Given the description of an element on the screen output the (x, y) to click on. 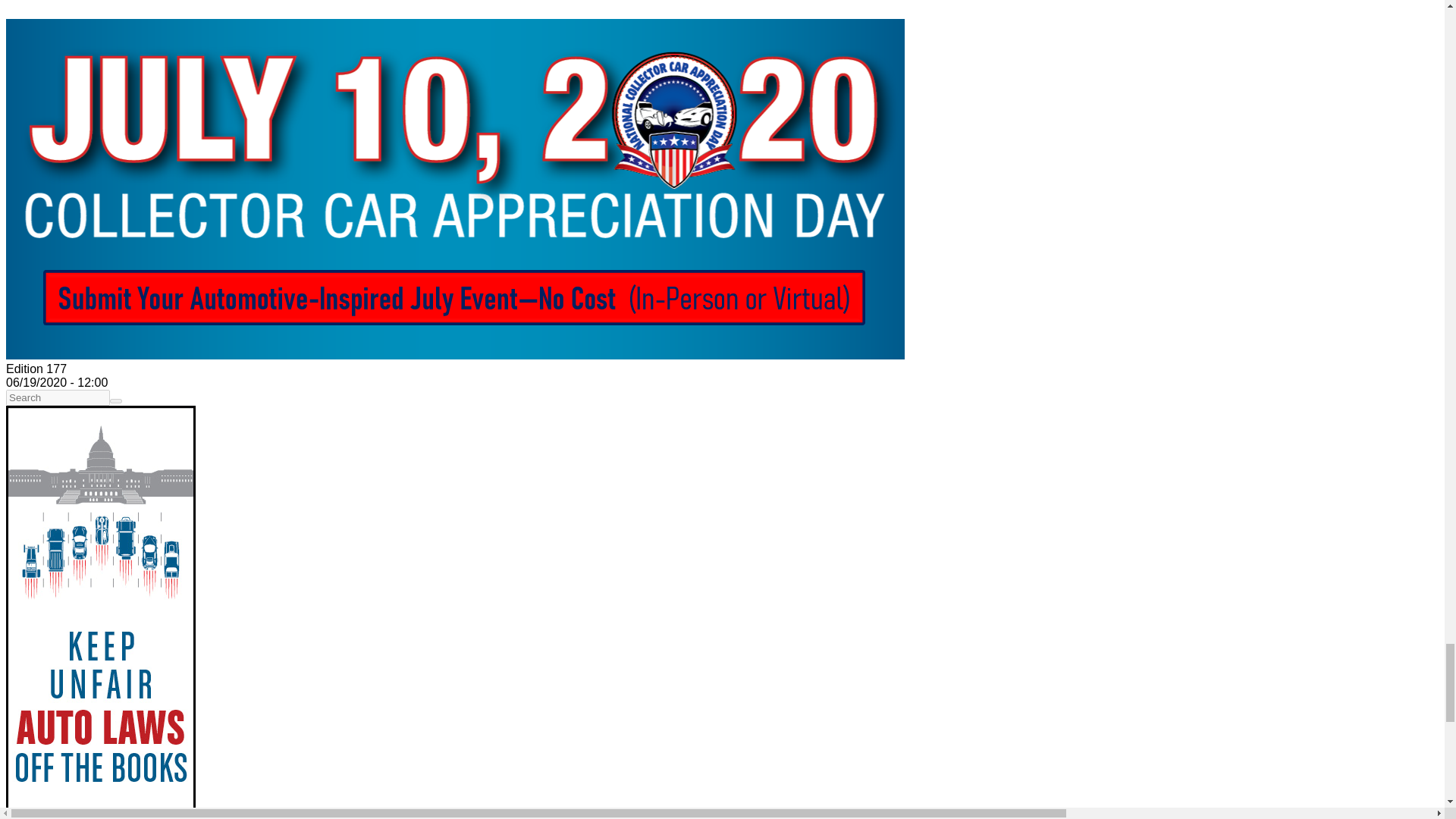
Enter the terms you wish to search for. (57, 397)
